Given the description of an element on the screen output the (x, y) to click on. 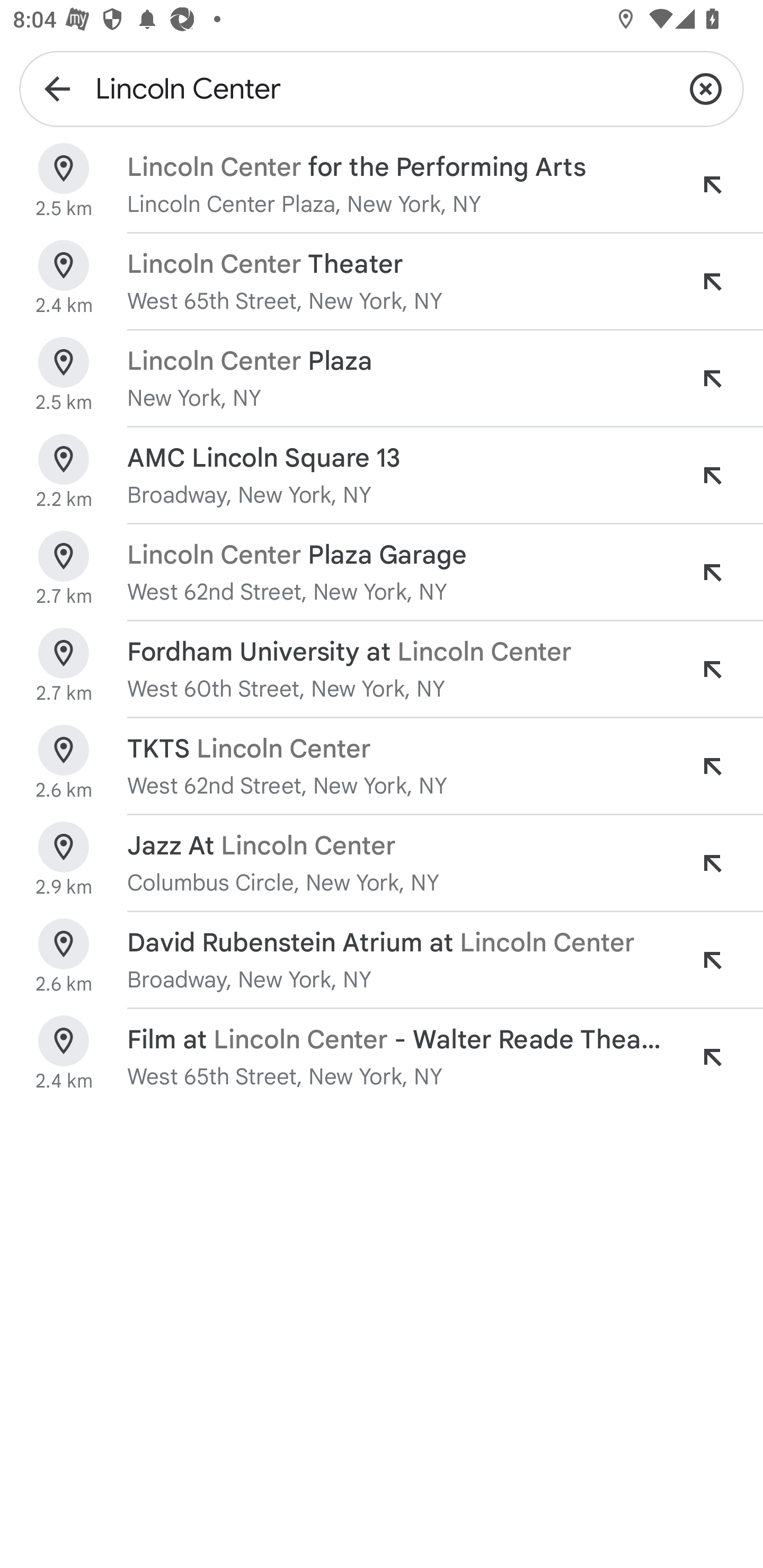
Navigate up (57, 88)
Lincoln Center (381, 88)
Clear (705, 88)
